Given the description of an element on the screen output the (x, y) to click on. 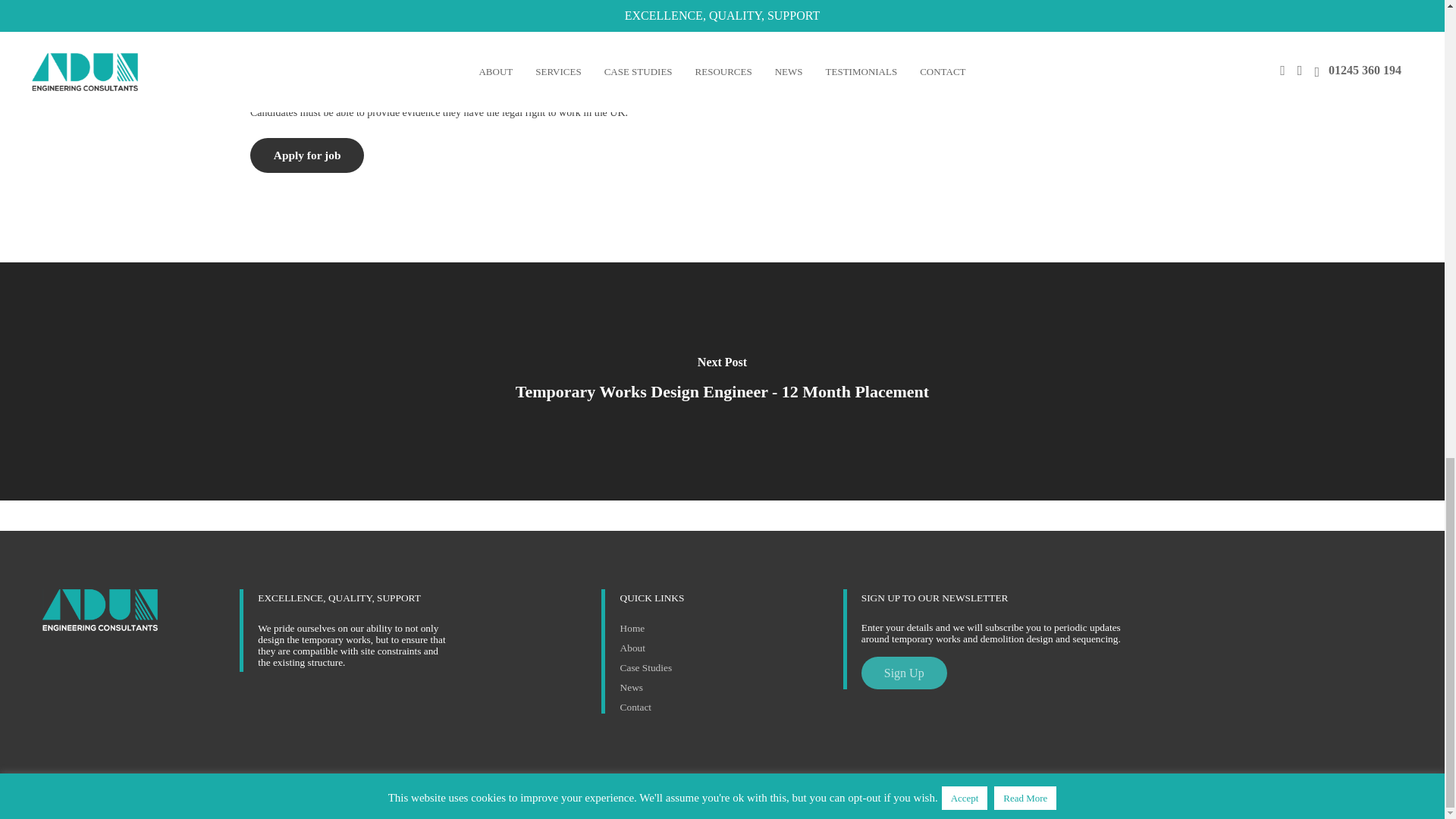
Apply for job (307, 155)
